Given the description of an element on the screen output the (x, y) to click on. 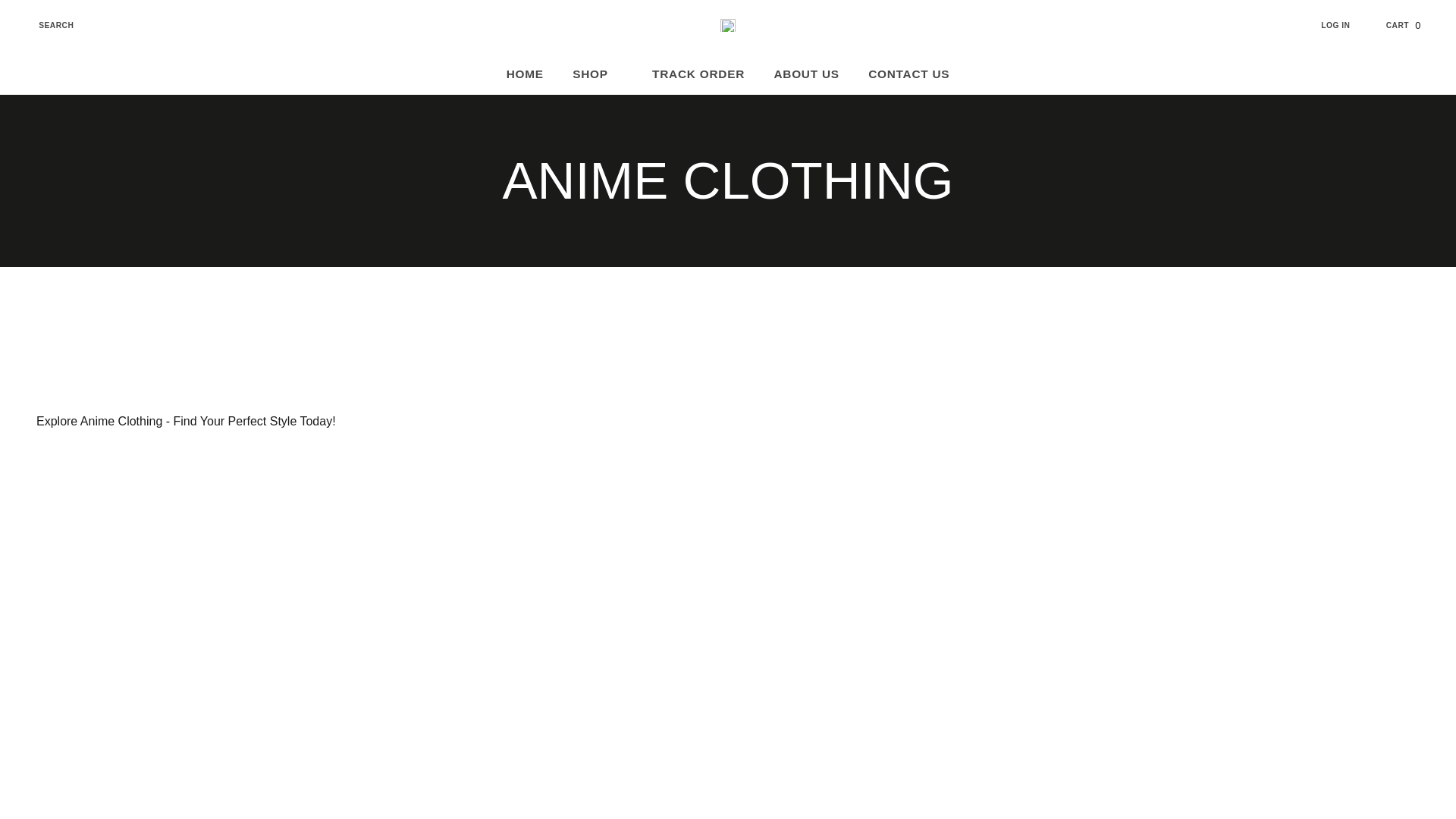
CONTACT US (908, 74)
TRACK ORDER (697, 74)
ABOUT US (1412, 25)
SEARCH (805, 74)
SHOP (45, 25)
LOG IN (597, 74)
HOME (1345, 25)
